Given the description of an element on the screen output the (x, y) to click on. 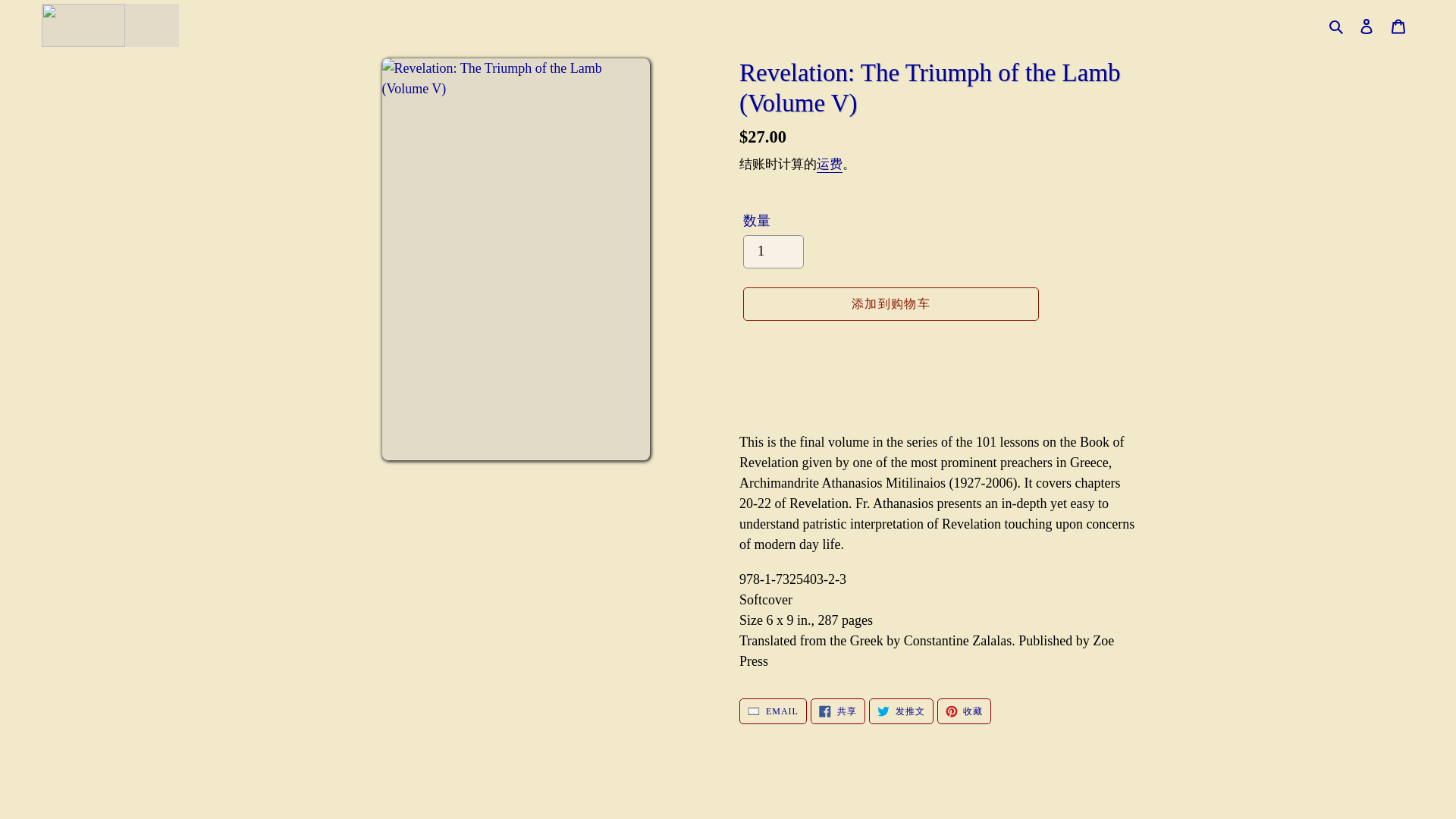
1 (772, 251)
EMAIL (772, 710)
